Given the description of an element on the screen output the (x, y) to click on. 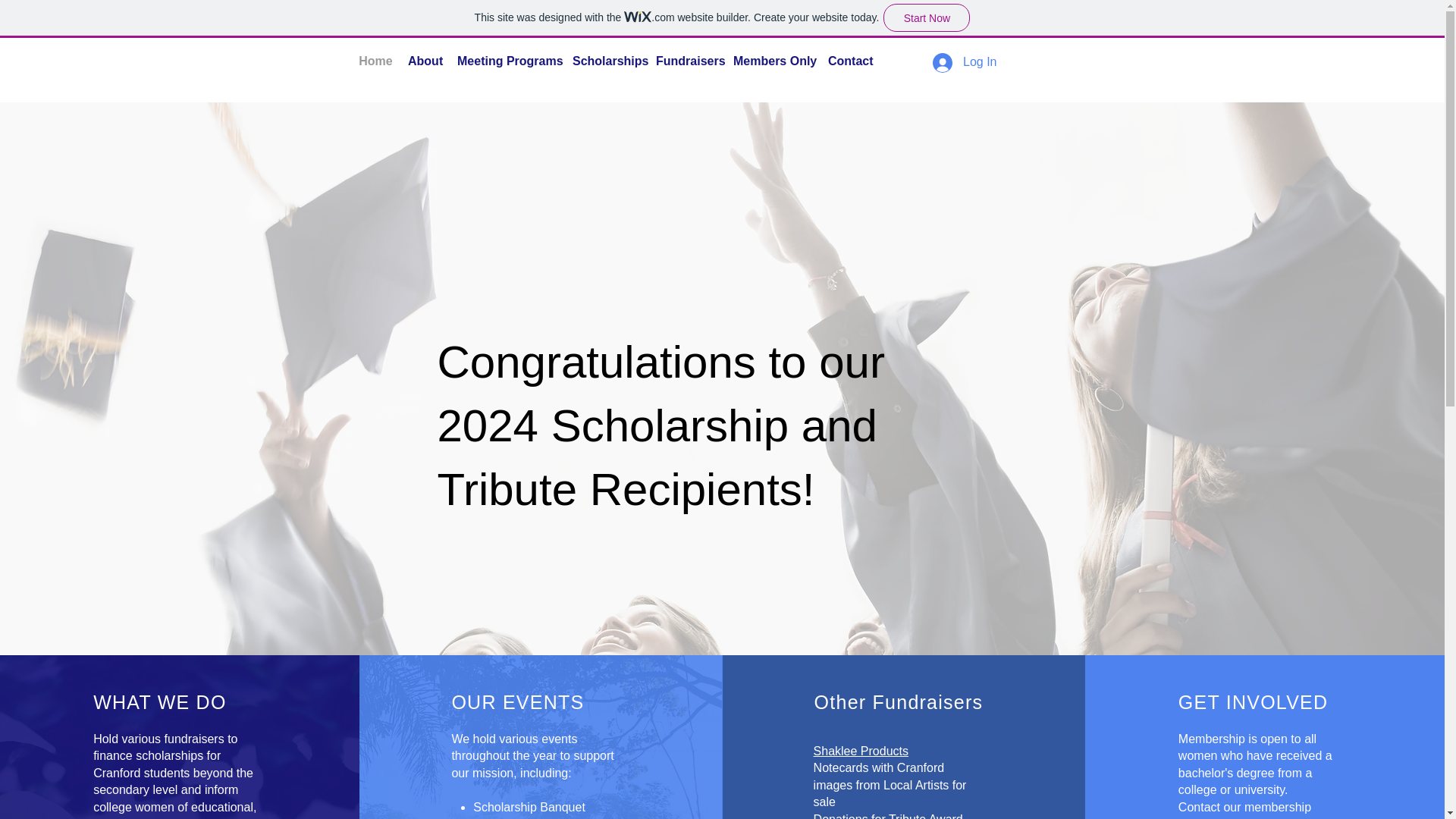
Scholarships (605, 55)
Other Fundraisers (898, 701)
Fundraisers (686, 55)
WHAT WE DO (159, 701)
Contact (849, 55)
About (424, 55)
GET INVOLVED (1252, 701)
OUR EVENTS (517, 701)
Meeting Programs (506, 55)
Log In (964, 62)
